Given the description of an element on the screen output the (x, y) to click on. 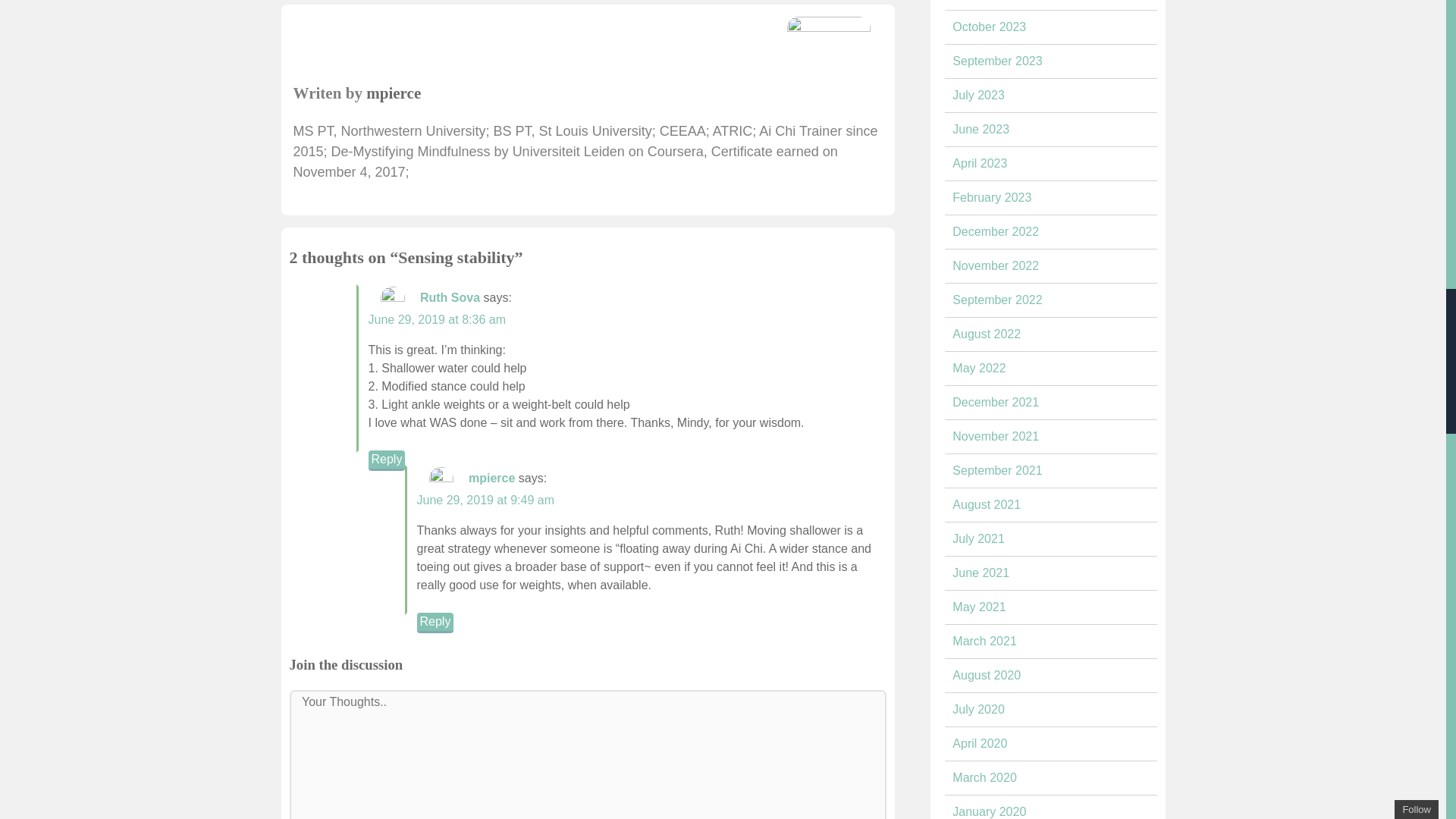
Reply (435, 620)
Reply (387, 458)
mpierce (393, 93)
June 29, 2019 at 9:49 am (485, 499)
June 29, 2019 at 8:36 am (436, 318)
mpierce (491, 477)
Ruth Sova (450, 297)
